Given the description of an element on the screen output the (x, y) to click on. 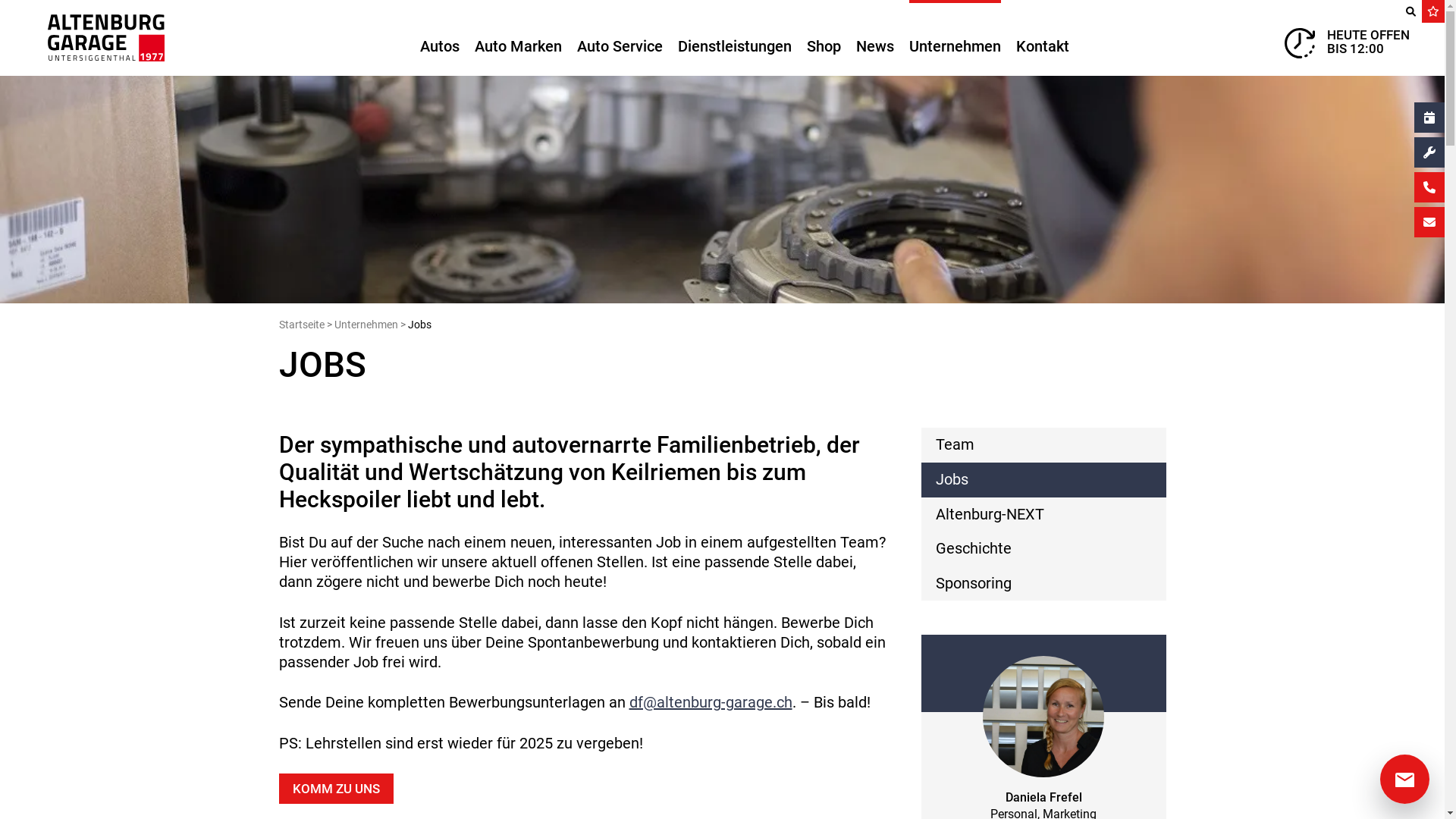
Unternehmen Element type: text (954, 37)
Kontakt Element type: text (1042, 37)
Altenburg-NEXT Element type: text (1042, 514)
News Element type: text (874, 37)
Search Element type: text (1410, 11)
Unternehmen Element type: text (365, 324)
Autos Element type: text (439, 37)
df@altenburg-garage.ch Element type: text (710, 702)
favorite Element type: text (1432, 11)
Geschichte Element type: text (1042, 548)
KOMM ZU UNS Element type: text (336, 788)
Auto Service Element type: text (619, 37)
Auto Marken Element type: text (517, 37)
Shop Element type: text (823, 37)
Team Element type: text (1042, 444)
Dienstleistungen Element type: text (734, 37)
Jobs Element type: text (1042, 479)
